Given the description of an element on the screen output the (x, y) to click on. 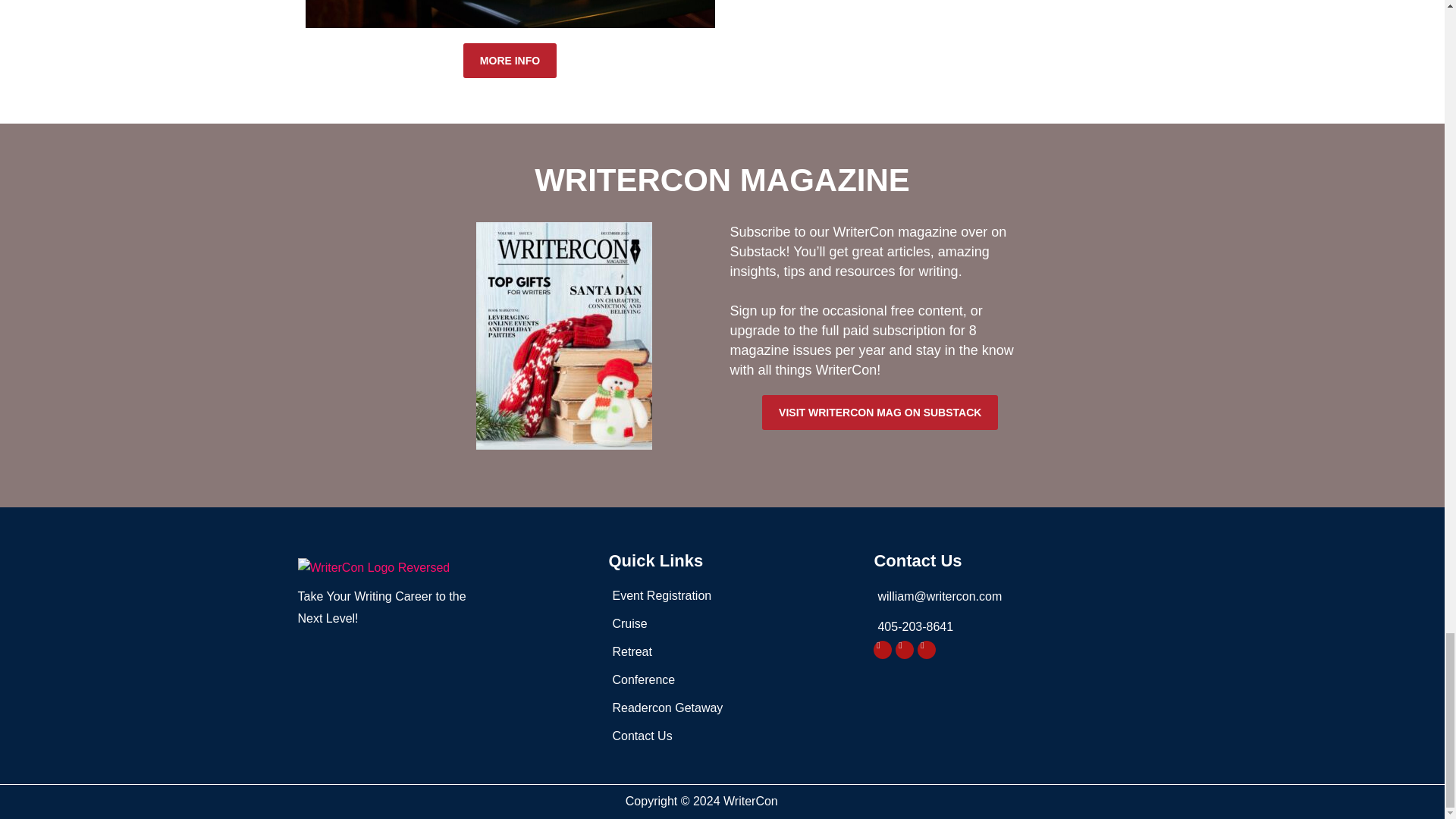
405-203-8641 (1010, 627)
Event Registration (733, 596)
Retreat (733, 651)
WriterCon Logo Reversed (373, 567)
Conference (733, 680)
MORE INFO (509, 60)
Cruise (733, 623)
Contact Us (733, 736)
VISIT WRITERCON MAG ON SUBSTACK (879, 411)
Readercon Getaway (733, 708)
